Given the description of an element on the screen output the (x, y) to click on. 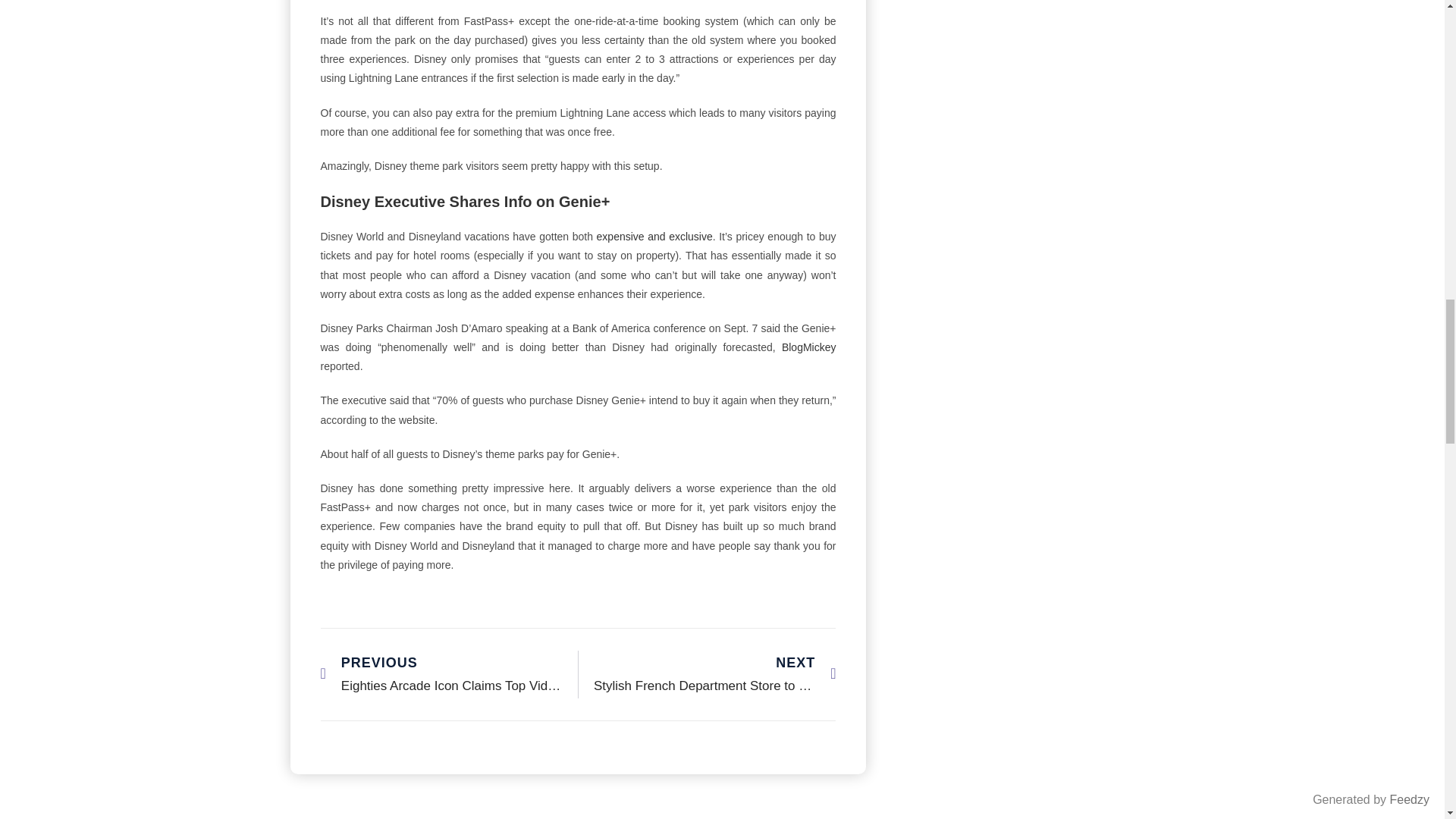
expensive and exclusive (654, 236)
BlogMickey (808, 346)
